Given the description of an element on the screen output the (x, y) to click on. 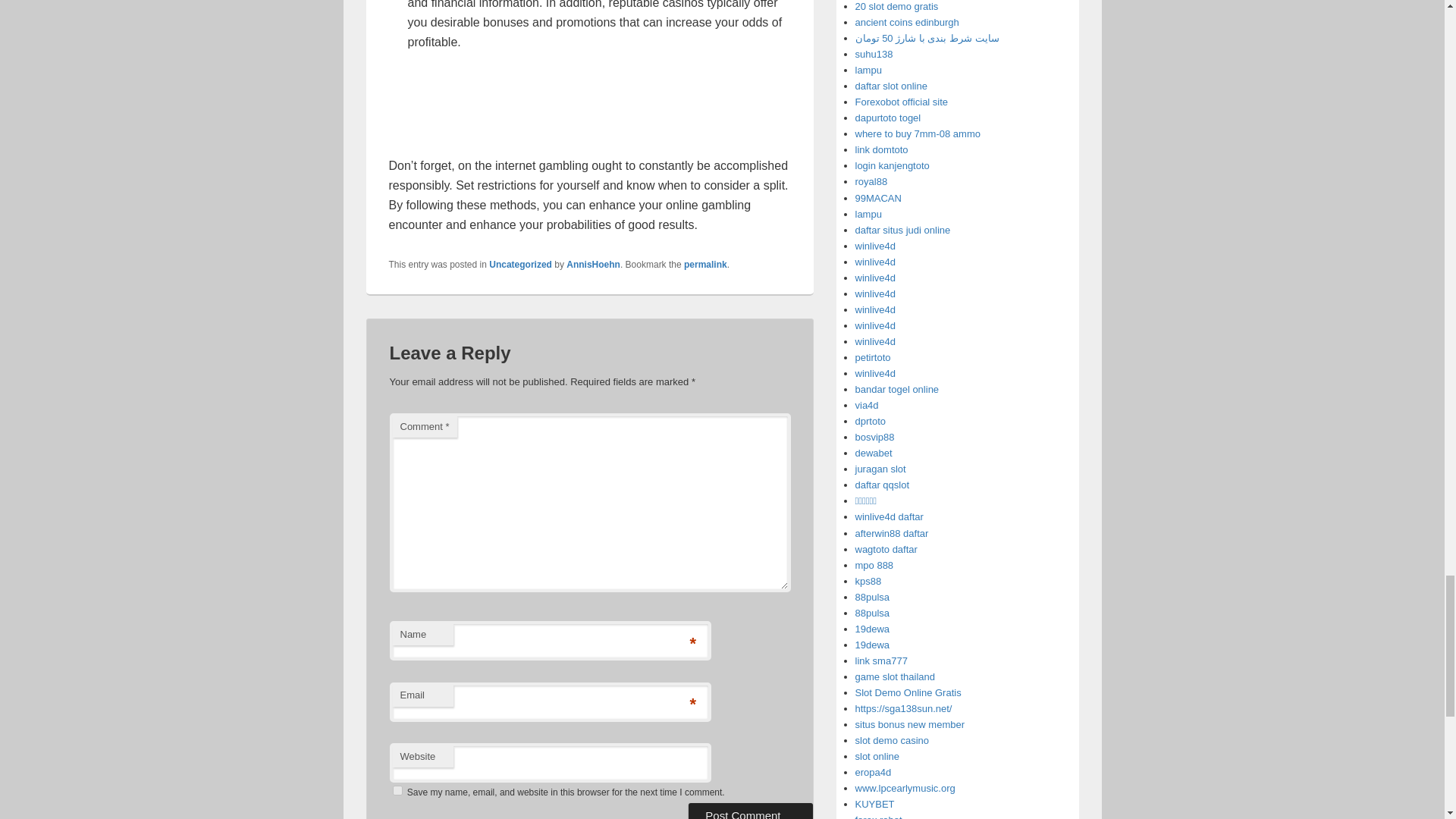
yes (398, 790)
Post Comment (750, 811)
Uncategorized (520, 264)
permalink (705, 264)
AnnisHoehn (593, 264)
Post Comment (750, 811)
